Given the description of an element on the screen output the (x, y) to click on. 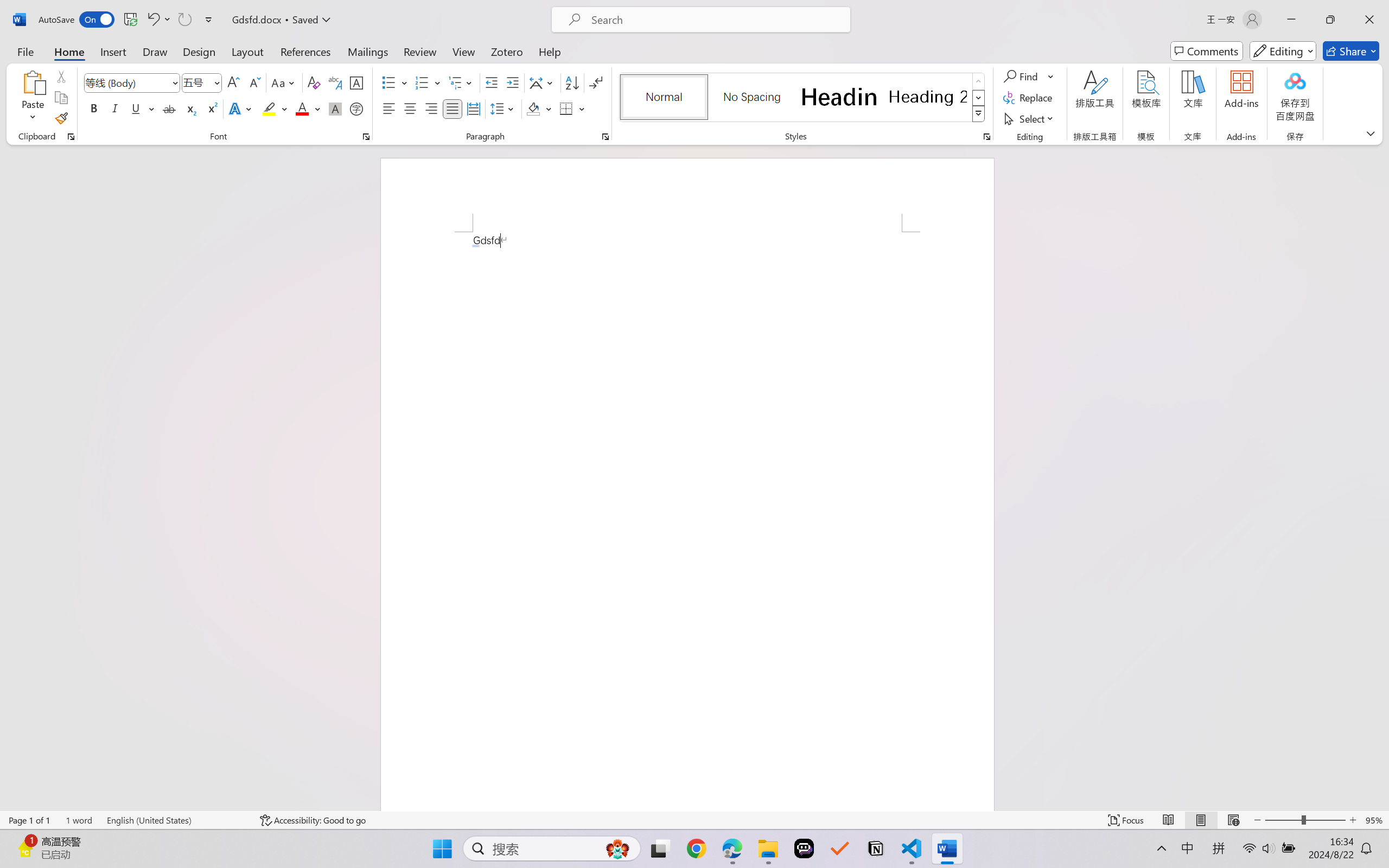
Text Effects and Typography (241, 108)
Styles (978, 113)
Line and Paragraph Spacing (503, 108)
Align Right (431, 108)
Strikethrough (169, 108)
Text Highlight Color (274, 108)
